Given the description of an element on the screen output the (x, y) to click on. 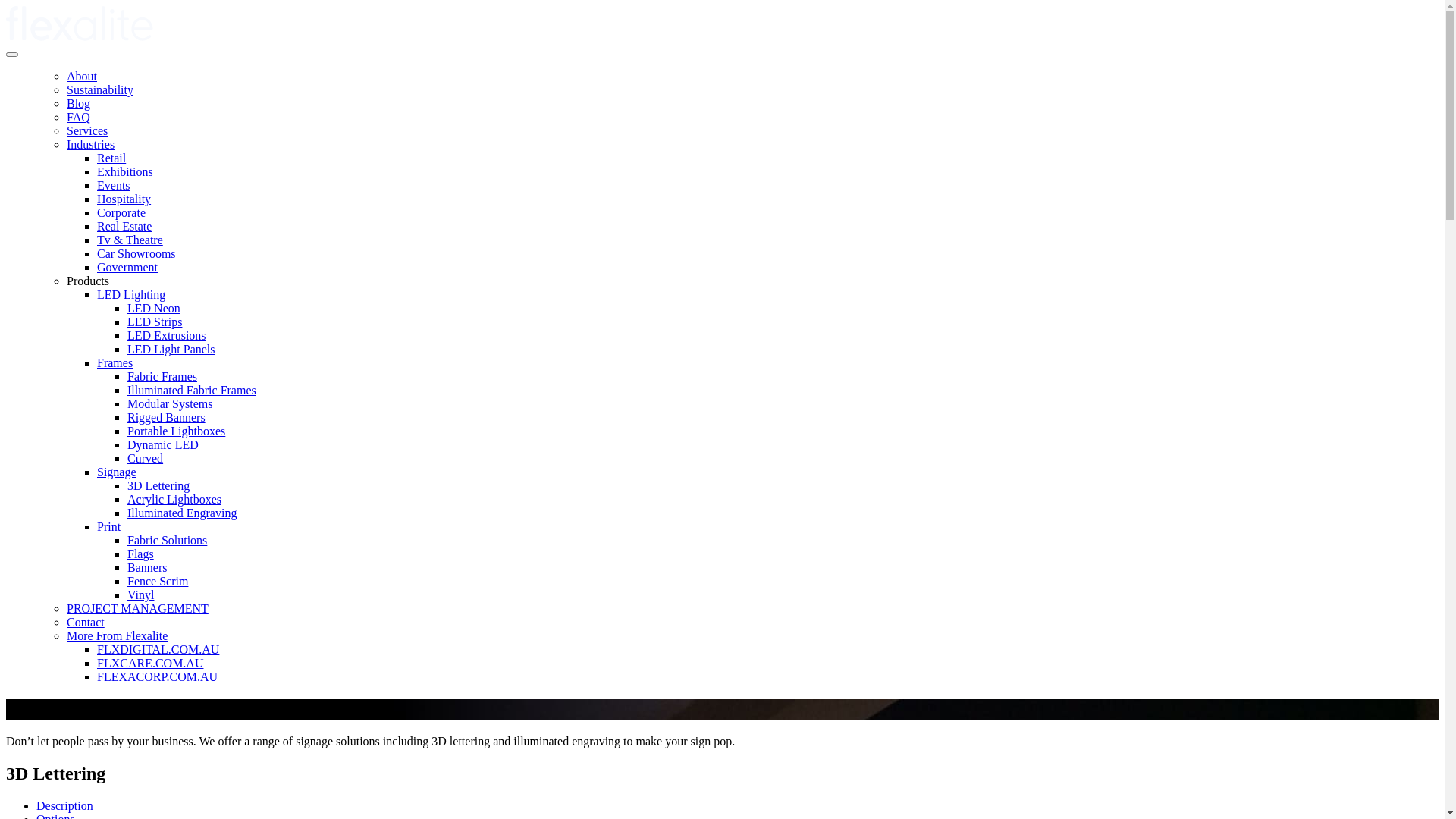
LED Extrusions Element type: text (166, 335)
Industries Element type: text (90, 144)
Rigged Banners Element type: text (166, 417)
FAQ Element type: text (78, 116)
Frames Element type: text (114, 362)
Blog Element type: text (78, 103)
Events Element type: text (113, 184)
Portable Lightboxes Element type: text (176, 430)
LED Neon Element type: text (153, 307)
Illuminated Engraving Element type: text (181, 512)
Flags Element type: text (140, 553)
Corporate Element type: text (121, 212)
Car Showrooms Element type: text (136, 253)
PROJECT MANAGEMENT Element type: text (137, 608)
More From Flexalite Element type: text (116, 635)
Modular Systems Element type: text (169, 403)
3D Lettering Element type: text (158, 485)
FLEXACORP.COM.AU Element type: text (157, 676)
Vinyl Element type: text (140, 594)
Fabric Solutions Element type: text (167, 539)
Banners Element type: text (146, 567)
Acrylic Lightboxes Element type: text (174, 498)
Tv & Theatre Element type: text (130, 239)
Hospitality Element type: text (123, 198)
Sustainability Element type: text (99, 89)
FLXDIGITAL.COM.AU Element type: text (158, 649)
Fabric Frames Element type: text (162, 376)
Services Element type: text (86, 130)
Real Estate Element type: text (124, 225)
FLXCARE.COM.AU Element type: text (150, 662)
About Element type: text (81, 75)
LED Light Panels Element type: text (171, 348)
Retail Element type: text (111, 157)
Signage Element type: text (116, 471)
Description Element type: text (64, 805)
Exhibitions Element type: text (125, 171)
Illuminated Fabric Frames Element type: text (191, 389)
Print Element type: text (108, 526)
Contact Element type: text (85, 621)
Fence Scrim Element type: text (157, 580)
Products Element type: text (87, 280)
Curved Element type: text (145, 457)
LED Lighting Element type: text (131, 294)
Government Element type: text (127, 266)
LED Strips Element type: text (154, 321)
Dynamic LED Element type: text (162, 444)
